Given the description of an element on the screen output the (x, y) to click on. 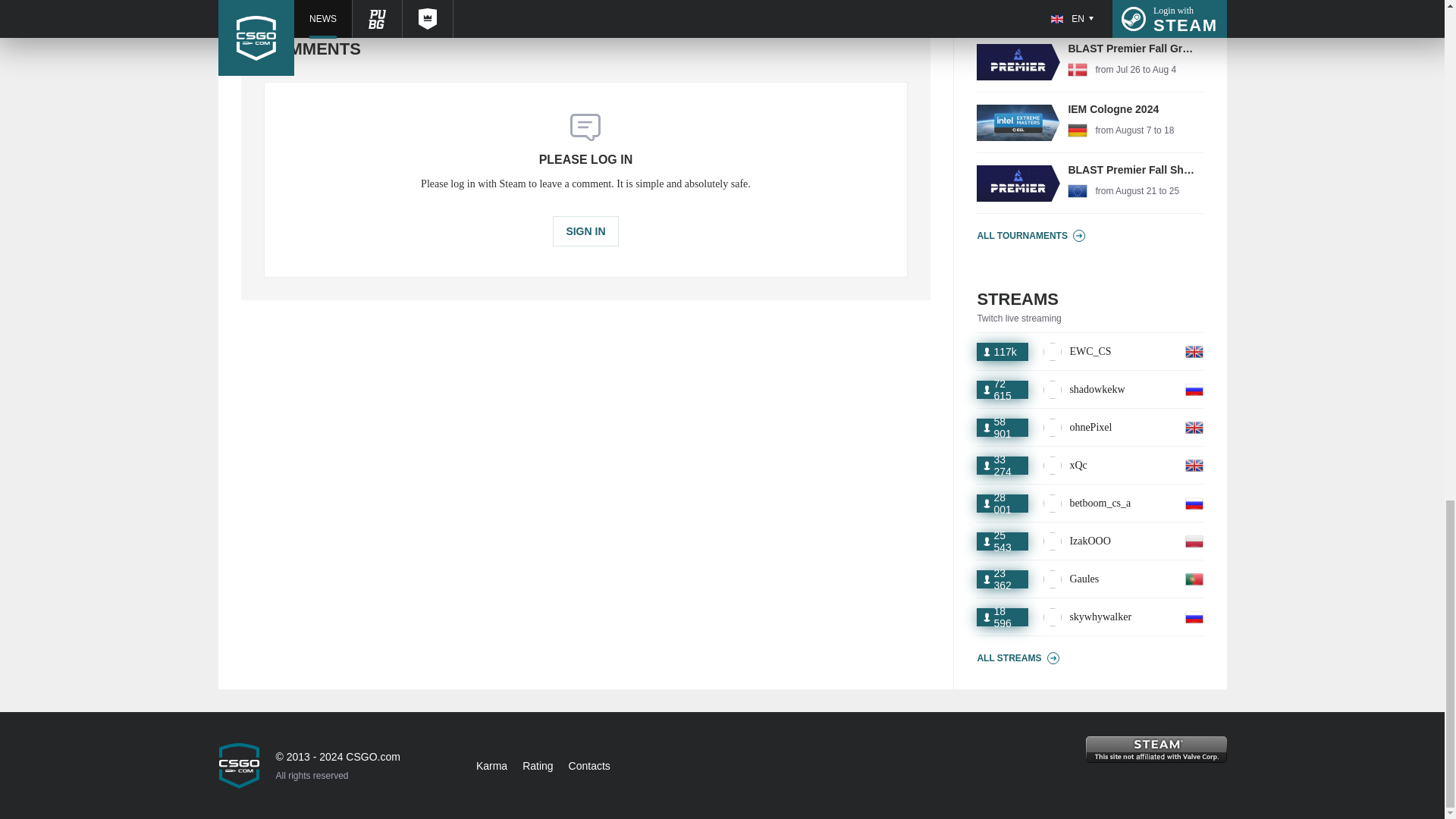
SIGN IN (1090, 15)
